Given the description of an element on the screen output the (x, y) to click on. 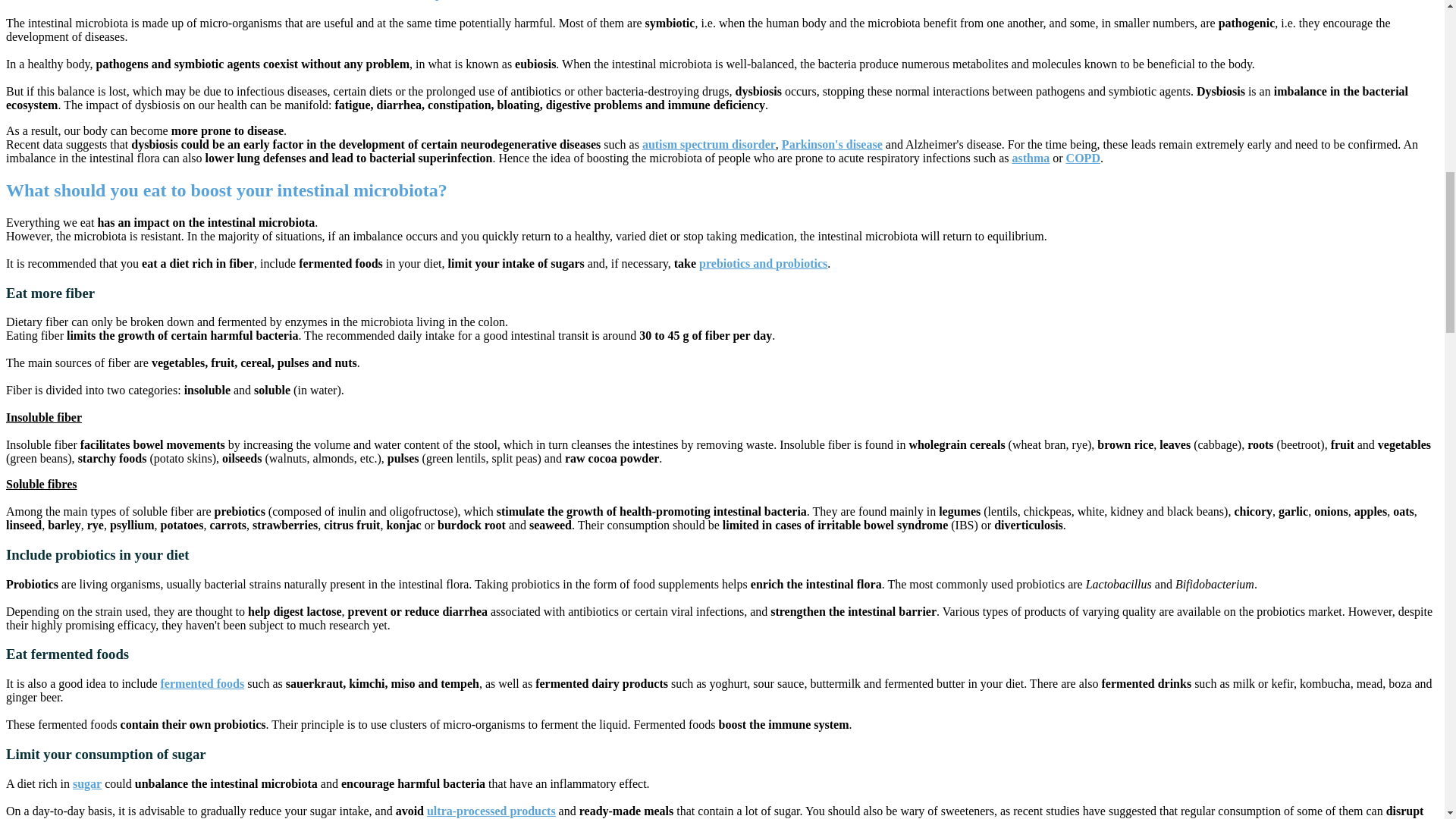
fermented foods (202, 683)
ultra-processed products (491, 810)
asthma (1030, 157)
prebiotics and probiotics (762, 263)
COPD (1082, 157)
autism spectrum disorder (709, 144)
Parkinson's disease (831, 144)
sugar (86, 783)
